Given the description of an element on the screen output the (x, y) to click on. 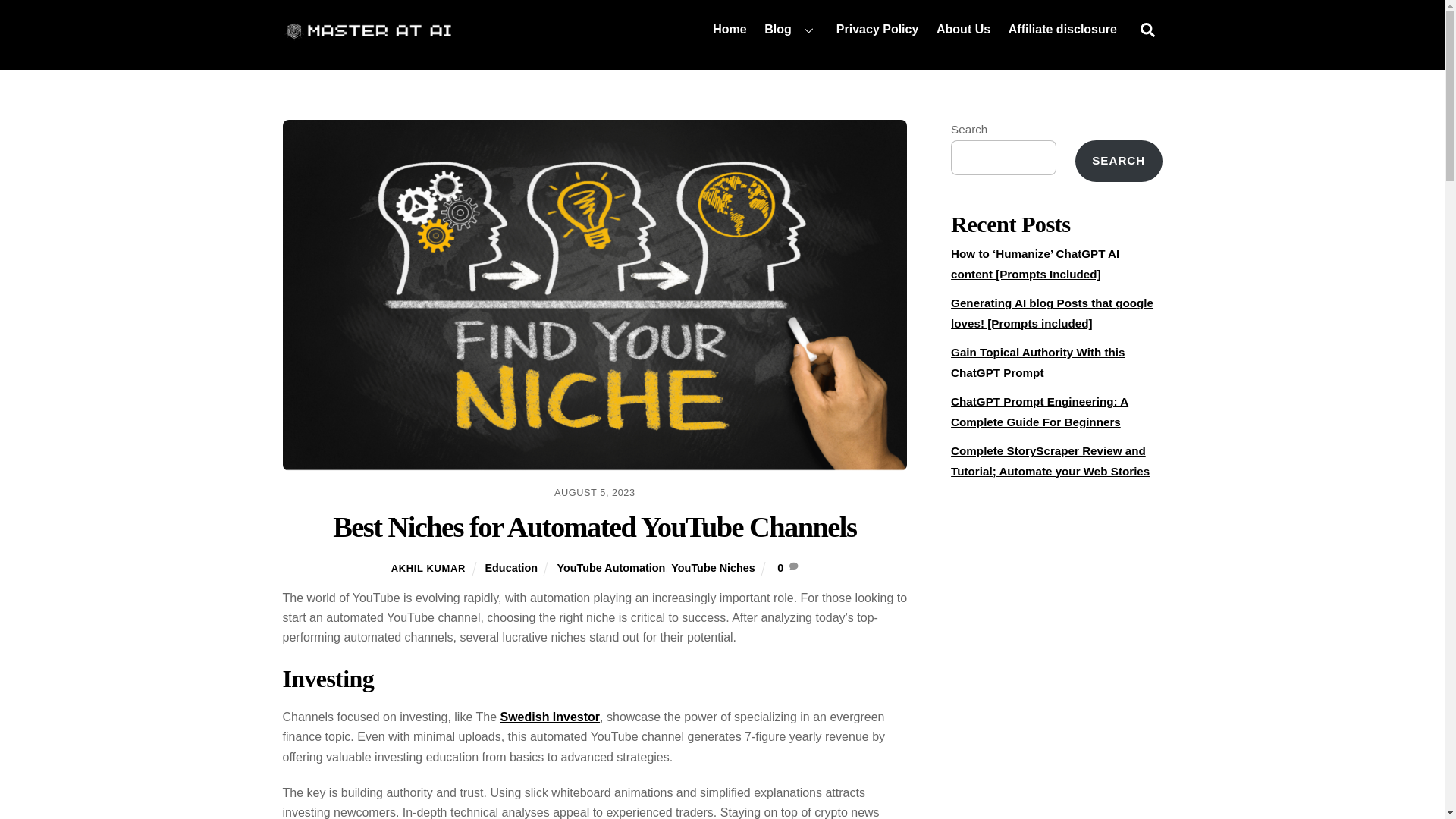
Blog (791, 29)
Search (1146, 29)
YouTube Niches (713, 567)
Privacy Policy (877, 29)
AKHIL KUMAR (428, 568)
Education (510, 567)
Best Niches for Automated YouTube Channels (594, 526)
SEARCH (1118, 161)
Home (730, 29)
